Given the description of an element on the screen output the (x, y) to click on. 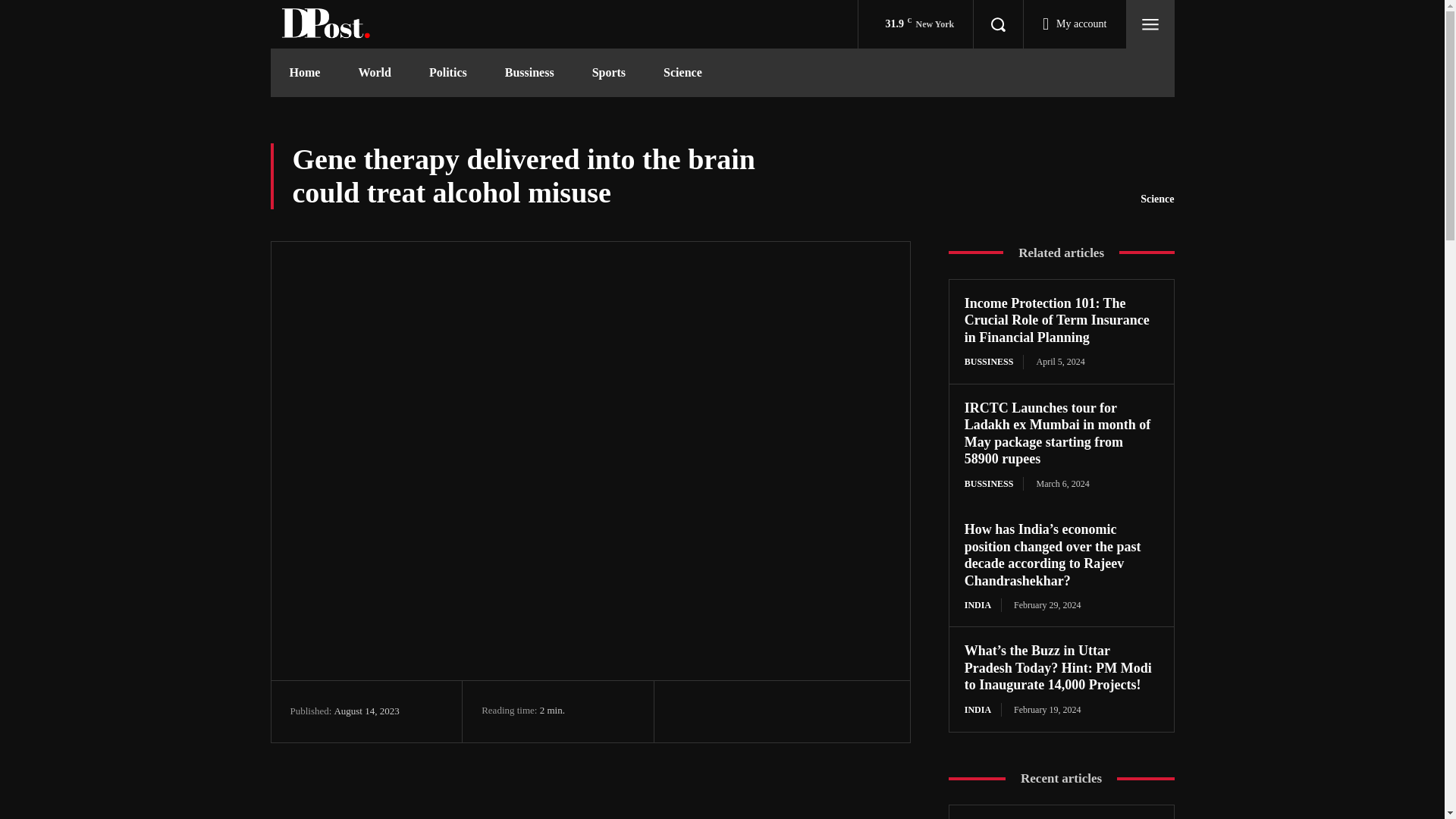
Home (304, 72)
Politics (448, 72)
World (374, 72)
The Dani Post (326, 23)
